Given the description of an element on the screen output the (x, y) to click on. 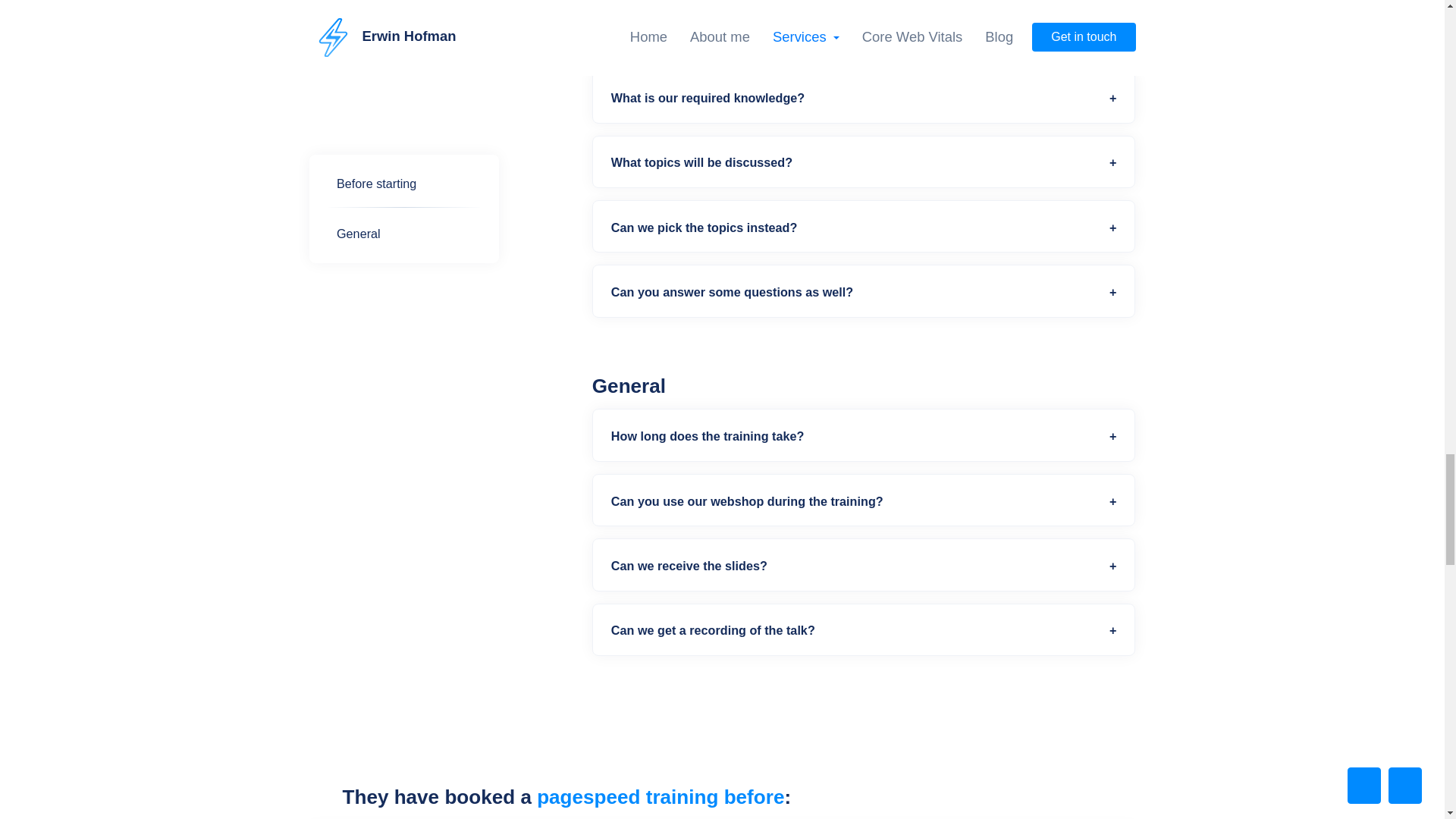
Can we get a recording of the talk? (863, 633)
Can you use our webshop during the training? (863, 505)
Can you answer some questions as well? (863, 295)
Can we receive the slides? (863, 569)
What topics will be discussed? (863, 166)
Can we pick the topics instead? (863, 230)
What is our required knowledge? (863, 101)
General (403, 84)
pagespeed training before (660, 796)
Is the training suitable for us? (863, 36)
Before starting (403, 34)
How long does the training take? (863, 439)
